Given the description of an element on the screen output the (x, y) to click on. 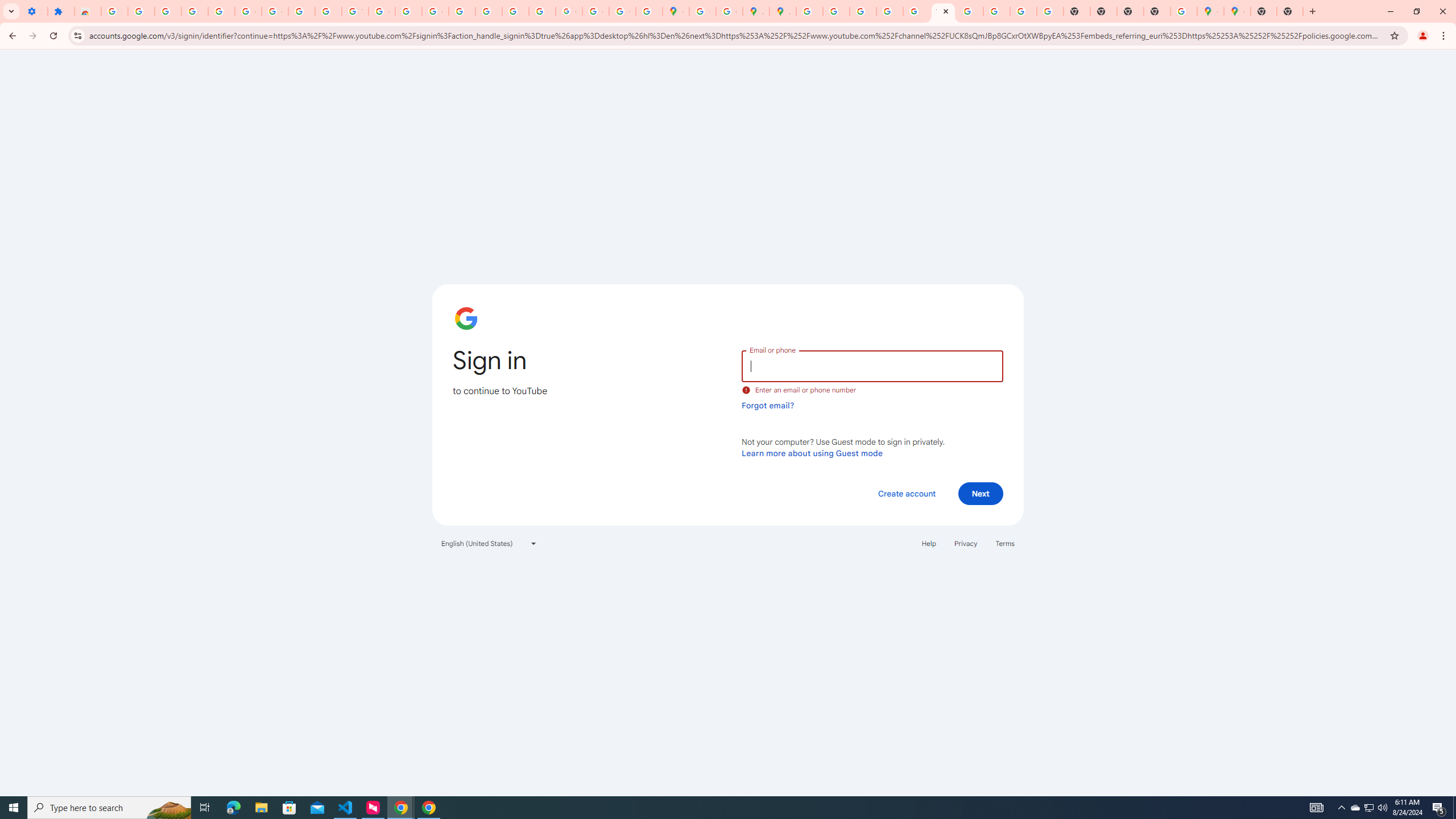
Privacy Help Center - Policies Help (836, 11)
Privacy Help Center - Policies Help (862, 11)
Reviews: Helix Fruit Jump Arcade Game (87, 11)
